Given the description of an element on the screen output the (x, y) to click on. 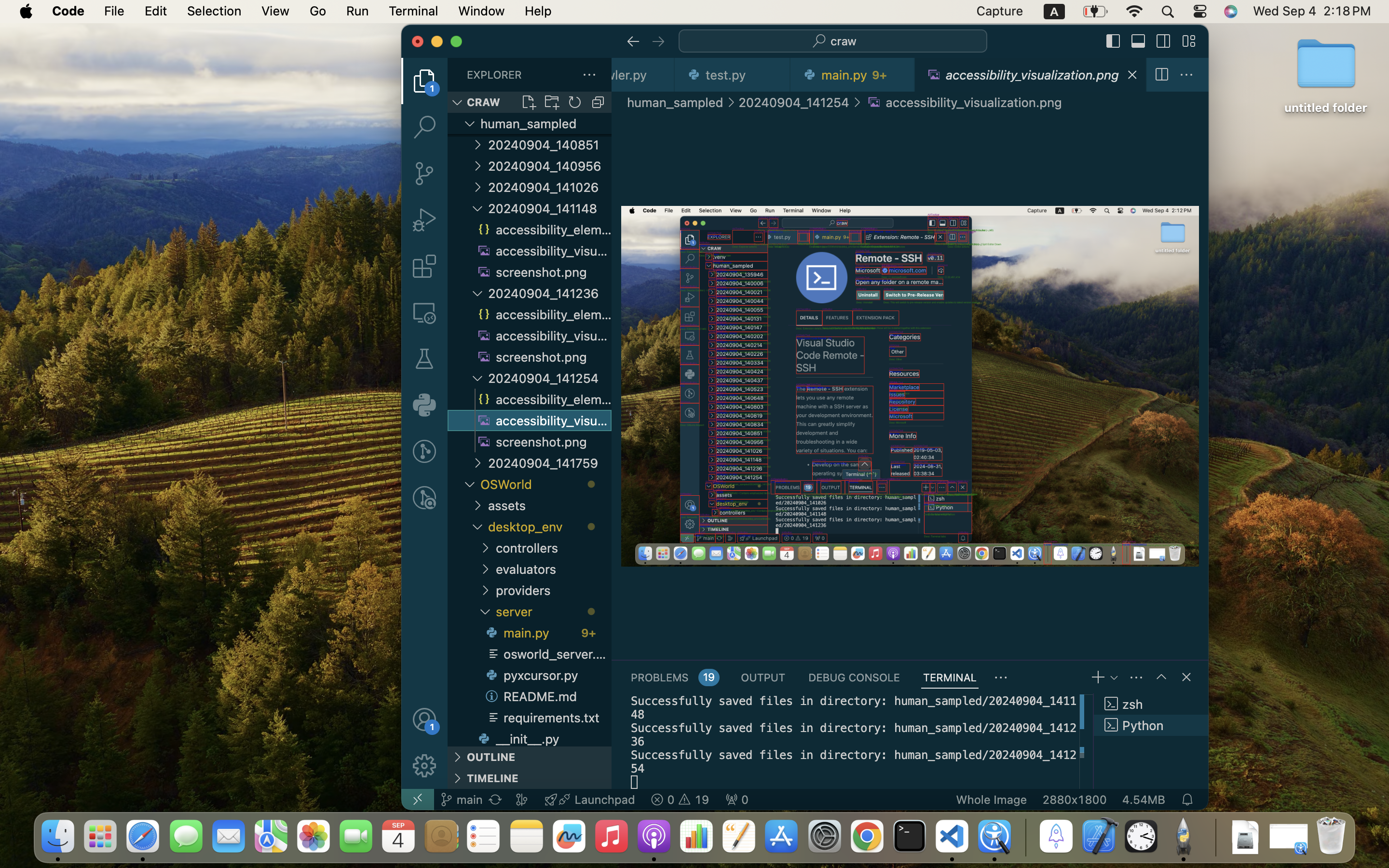
0 PROBLEMS 19 Element type: AXRadioButton (674, 676)
EXPLORER Element type: AXStaticText (493, 74)
zsh  Element type: AXGroup (1150, 703)
providers Element type: AXGroup (553, 589)
20240904_141254 Element type: AXGroup (549, 377)
